Given the description of an element on the screen output the (x, y) to click on. 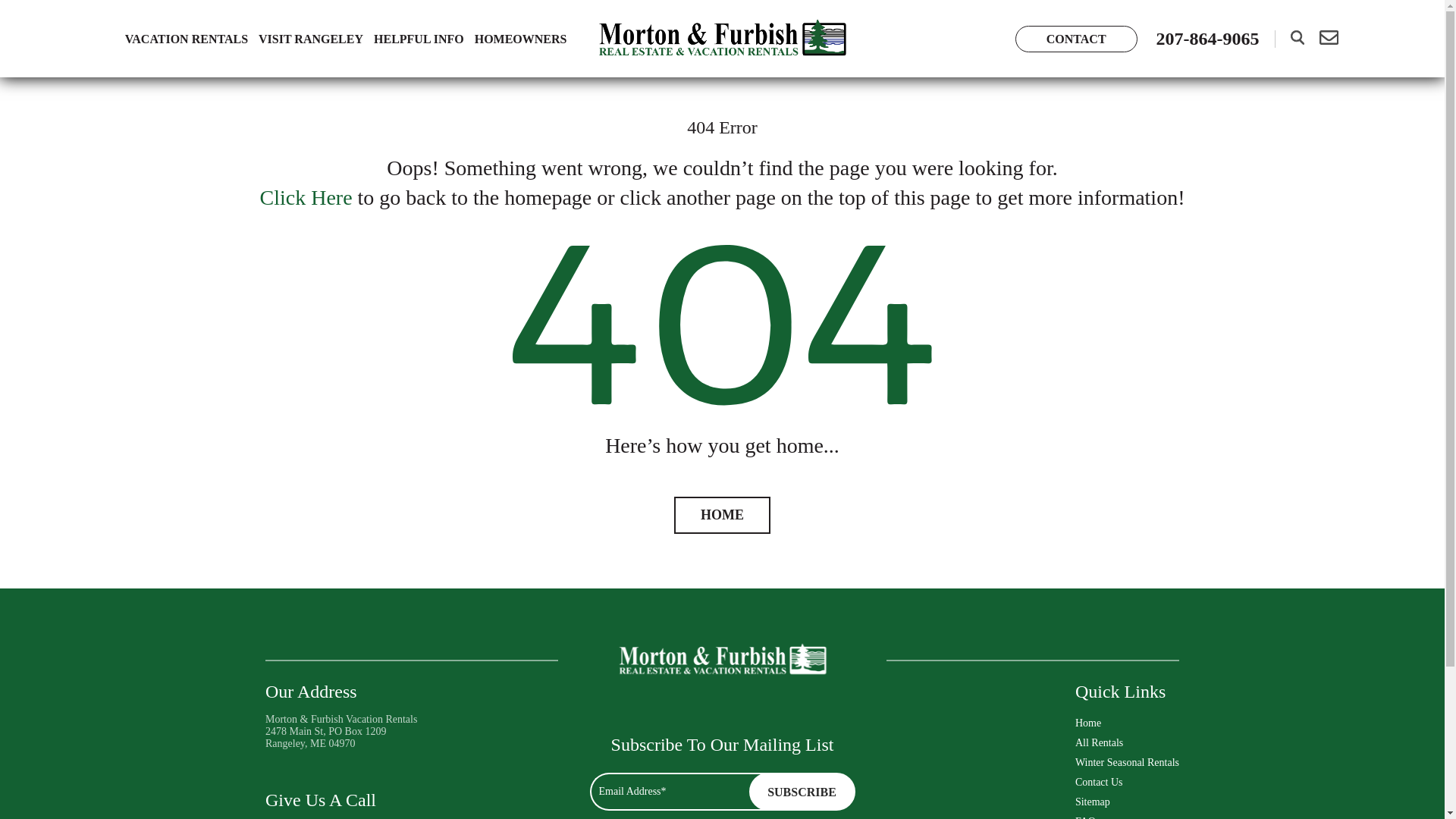
HELPFUL INFO (418, 39)
CONTACT (1075, 38)
HOMEOWNERS (520, 39)
Subscribe (802, 791)
VACATION RENTALS (185, 39)
VISIT RANGELEY (310, 39)
207-864-9065 (1207, 38)
